Given the description of an element on the screen output the (x, y) to click on. 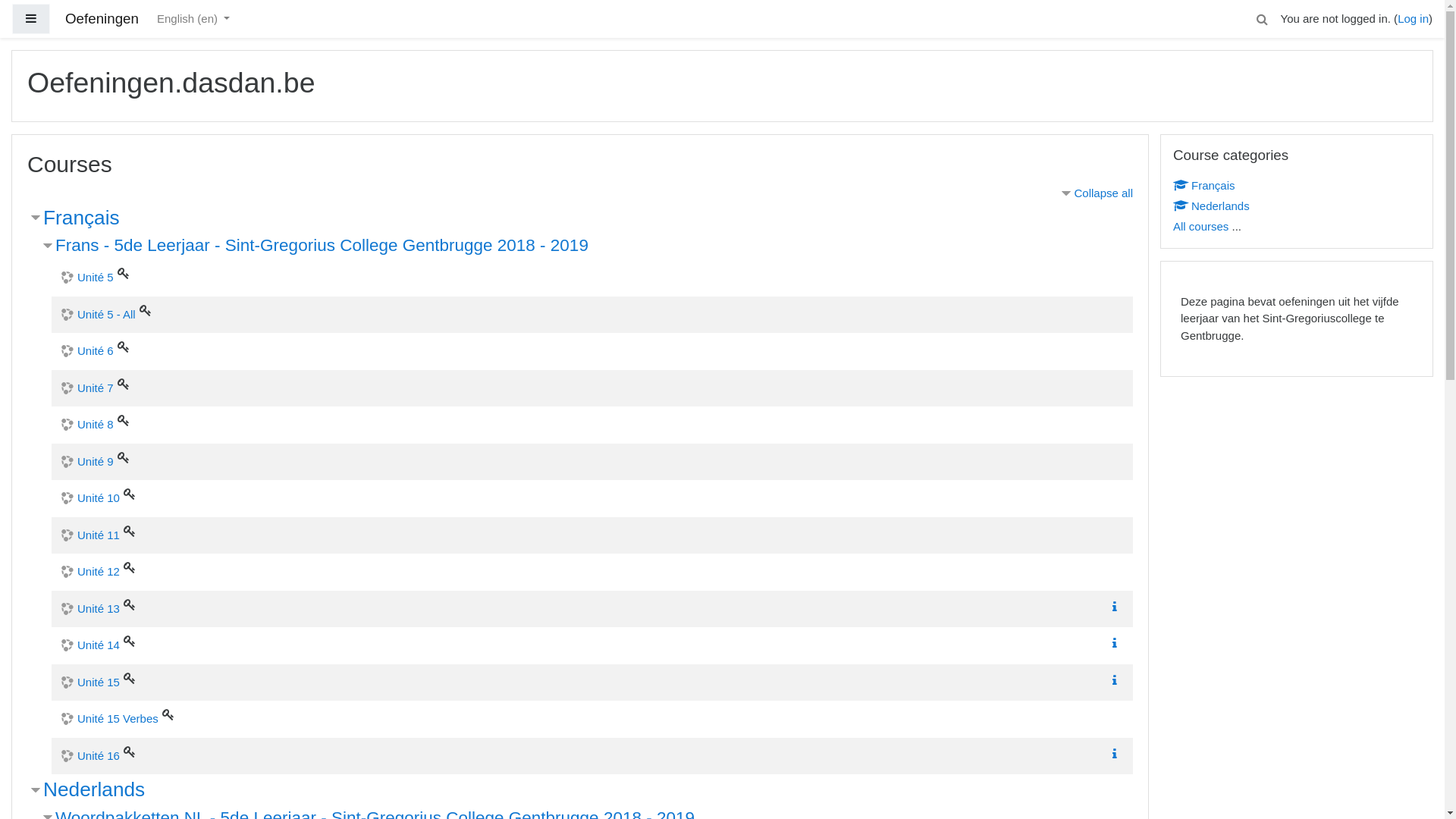
Summary Element type: hover (1114, 606)
Self enrolment Element type: hover (129, 493)
Summary Element type: hover (1114, 643)
All courses Element type: text (1200, 225)
Summary Element type: hover (1117, 753)
Side panel Element type: text (31, 18)
Summary Element type: hover (1117, 606)
Self enrolment Element type: hover (123, 272)
Course Element type: hover (1179, 184)
Summary Element type: hover (1117, 679)
Self enrolment Element type: hover (123, 346)
Nederlands Element type: text (1211, 204)
Self enrolment Element type: hover (129, 603)
Summary Element type: hover (1114, 753)
Oefeningen Element type: text (101, 19)
Self enrolment Element type: hover (129, 640)
Self enrolment Element type: hover (168, 714)
Self enrolment Element type: hover (129, 530)
Summary Element type: hover (1114, 679)
Self enrolment Element type: hover (145, 309)
Self enrolment Element type: hover (129, 677)
Self enrolment Element type: hover (123, 456)
English (en) Element type: text (192, 19)
Search Element type: hover (1262, 18)
Log in Element type: text (1412, 18)
Course Element type: hover (1179, 204)
Collapse all Element type: text (1095, 192)
Self enrolment Element type: hover (123, 420)
Self enrolment Element type: hover (123, 383)
Nederlands Element type: text (93, 789)
Skip Course categories Element type: text (1159, 133)
Self enrolment Element type: hover (129, 750)
Self enrolment Element type: hover (129, 567)
Summary Element type: hover (1117, 643)
